Given the description of an element on the screen output the (x, y) to click on. 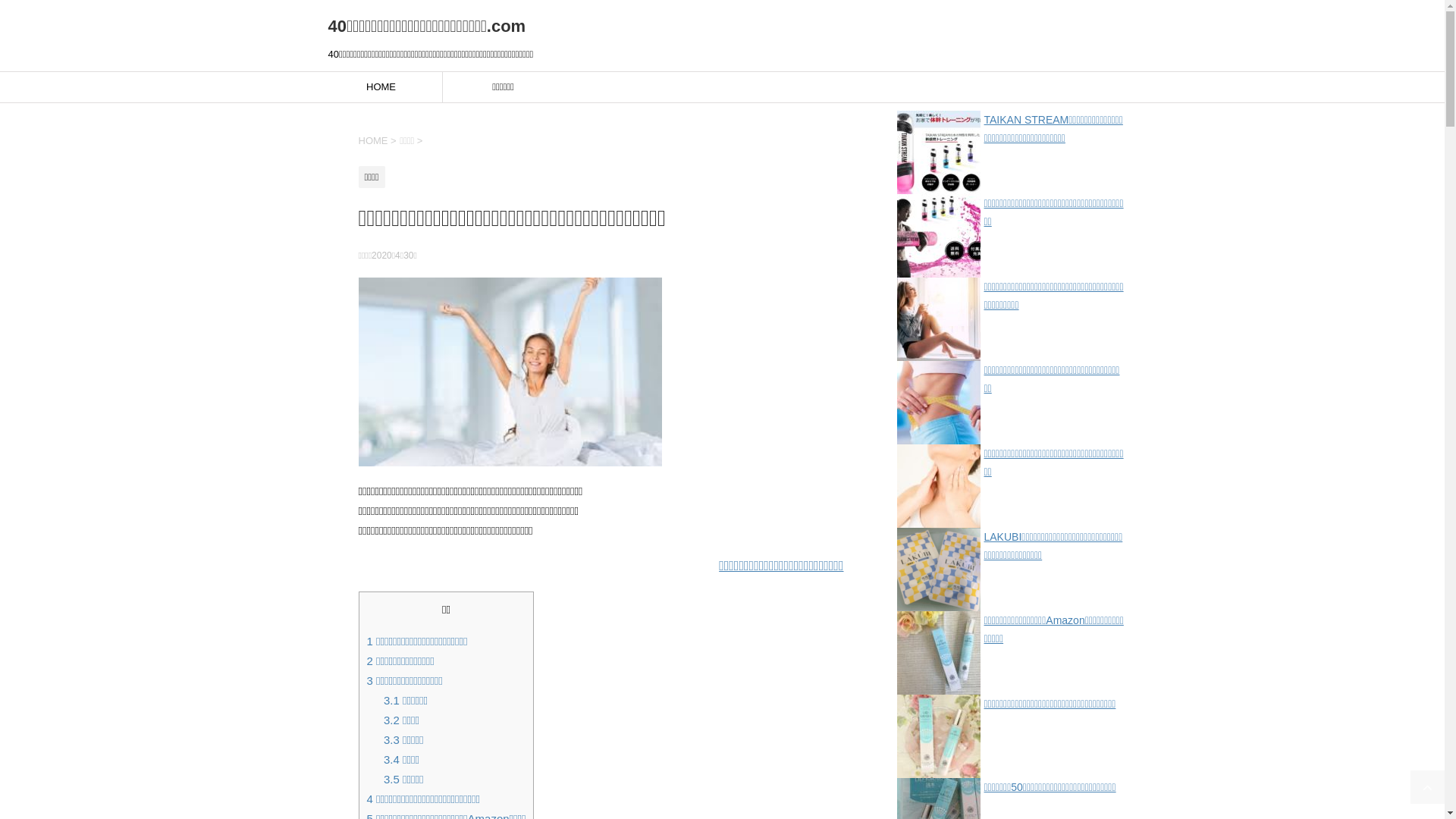
HOME Element type: text (372, 140)
HOME Element type: text (380, 87)
